Given the description of an element on the screen output the (x, y) to click on. 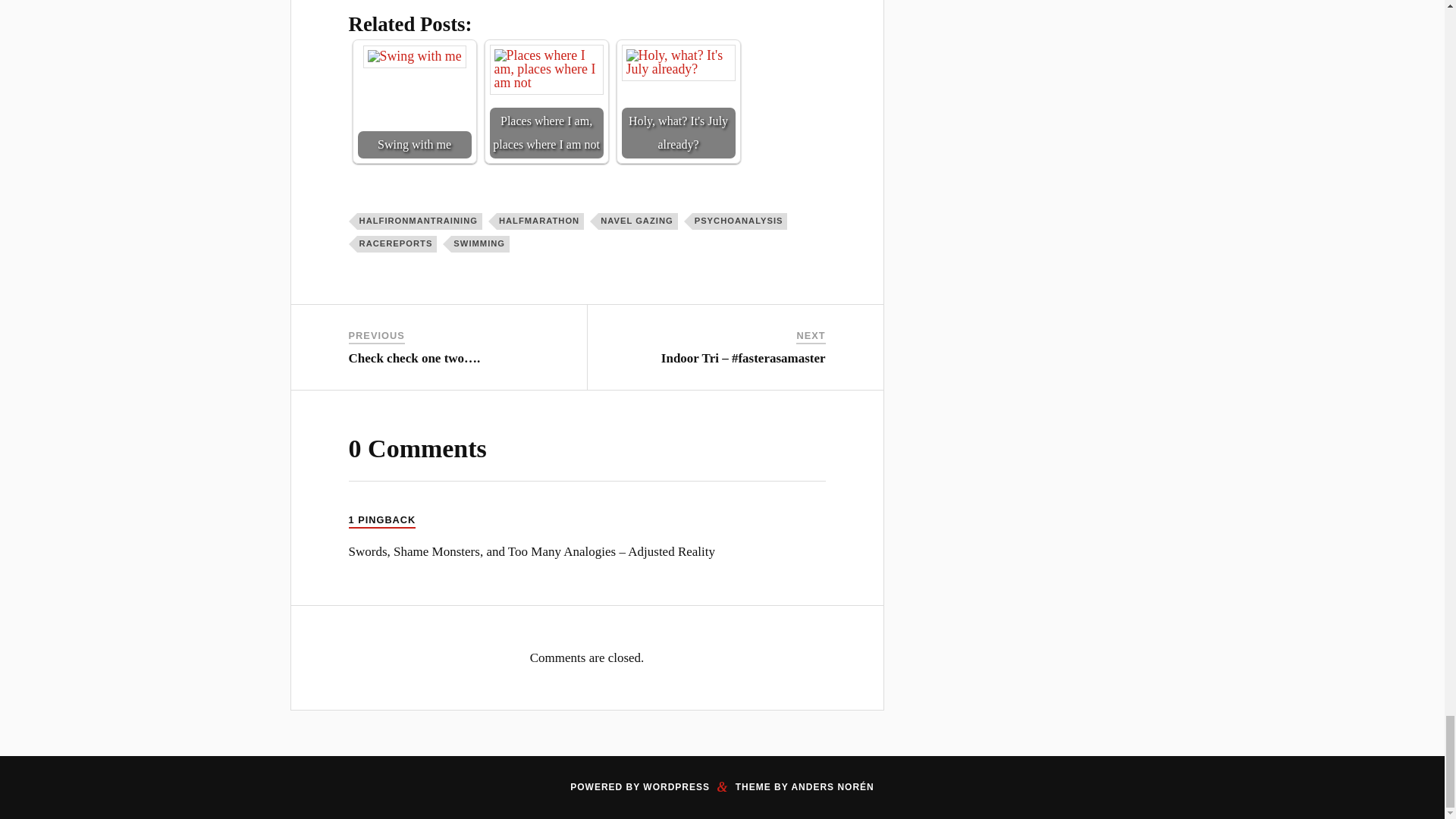
Places where I am, places where I am not (546, 70)
Swing with me (413, 56)
HALFIRONMANTRAINING (418, 221)
Holy, what? It's July already? (678, 63)
Holy, what? It's July already? (678, 101)
HALFMARATHON (539, 221)
RACEREPORTS (397, 243)
NAVEL GAZING (638, 221)
Swing with me (414, 101)
Places where I am, places where I am not (546, 101)
